Given the description of an element on the screen output the (x, y) to click on. 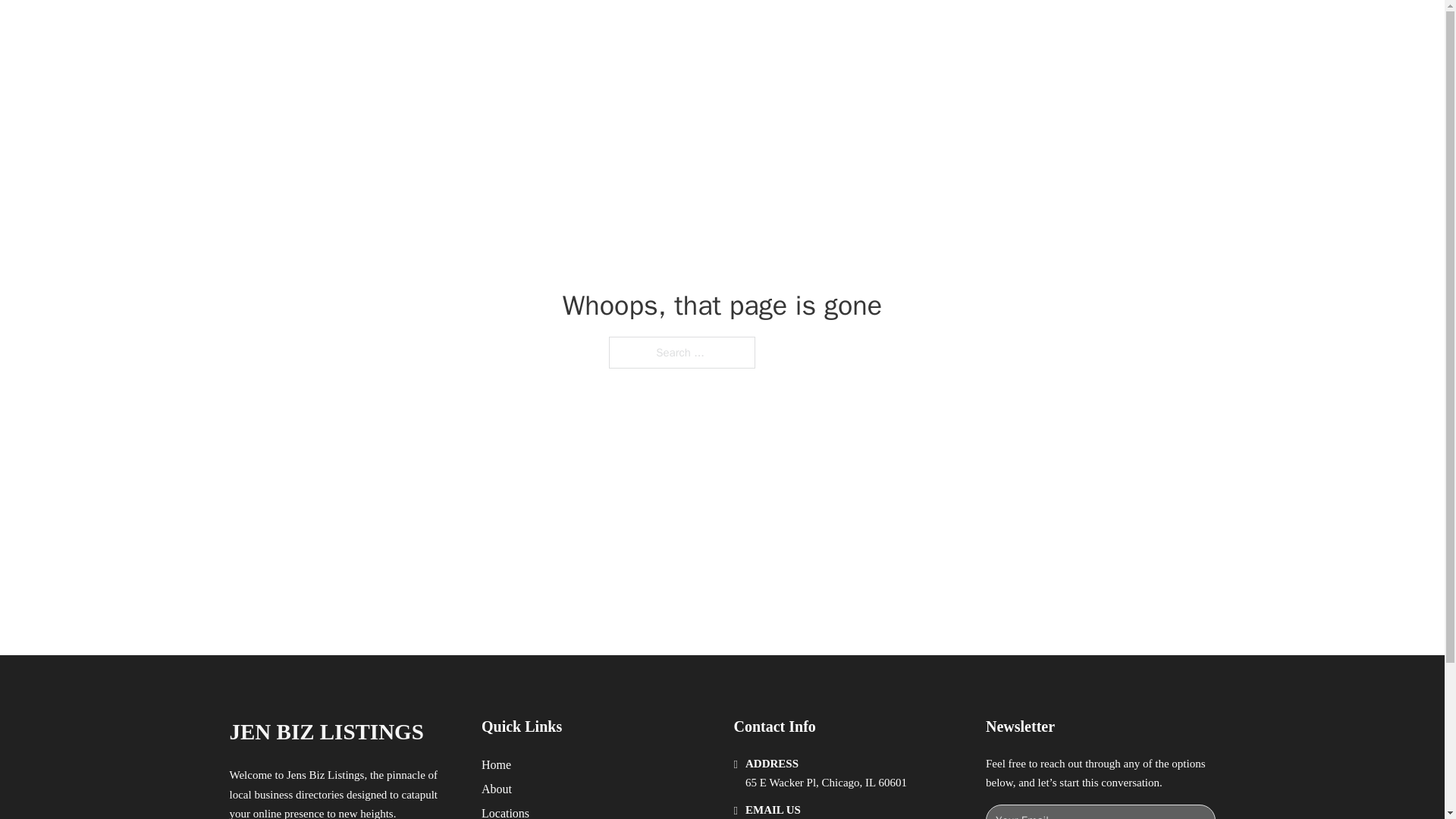
LOCATIONS (990, 29)
Locations (505, 811)
JENS BIZ LISTINGS (405, 28)
About (496, 788)
Home (496, 764)
HOME (919, 29)
JEN BIZ LISTINGS (325, 732)
